Given the description of an element on the screen output the (x, y) to click on. 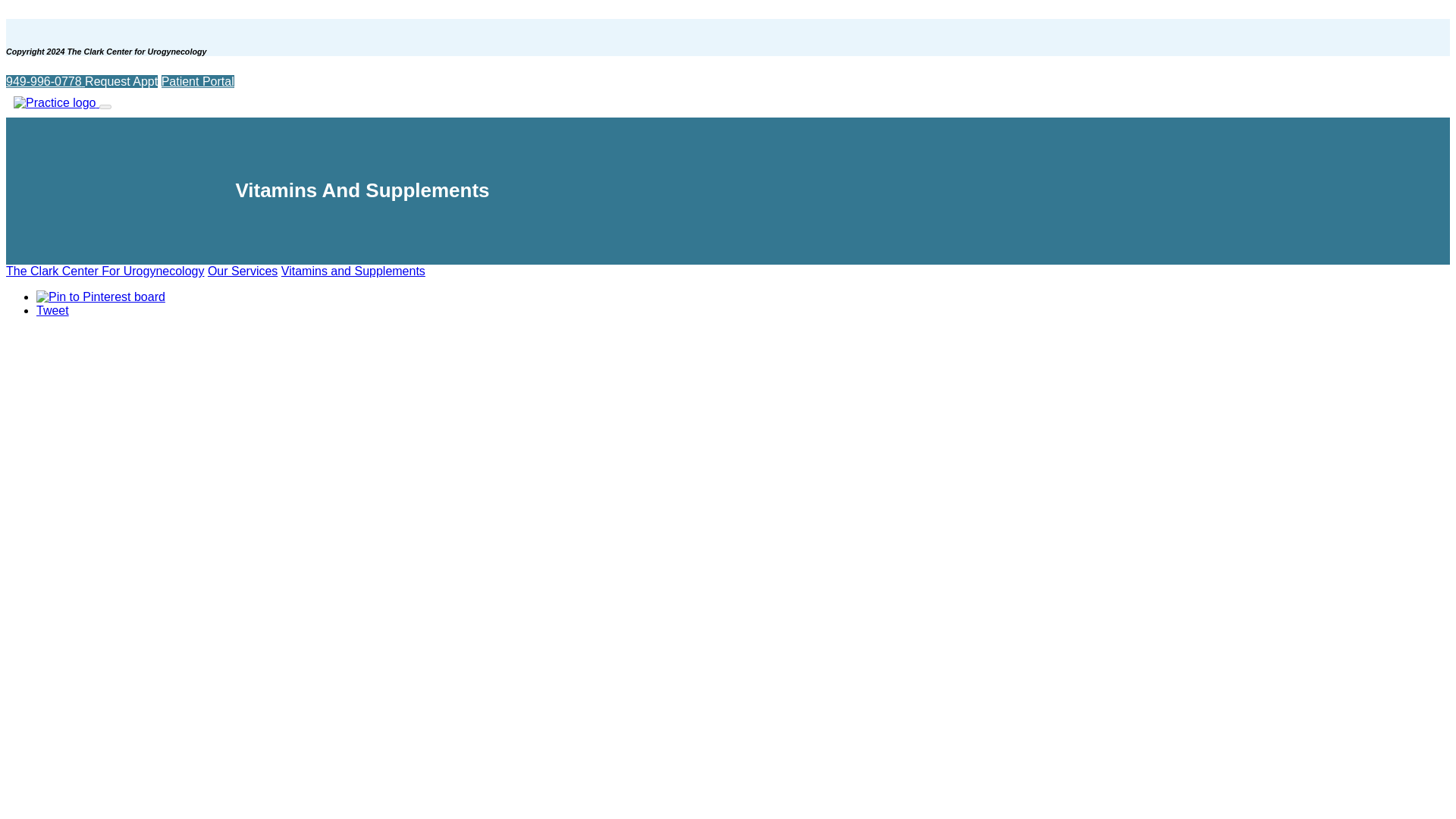
Patient Portal (197, 81)
Request Appt (120, 81)
949-996-0778 (44, 81)
